Given the description of an element on the screen output the (x, y) to click on. 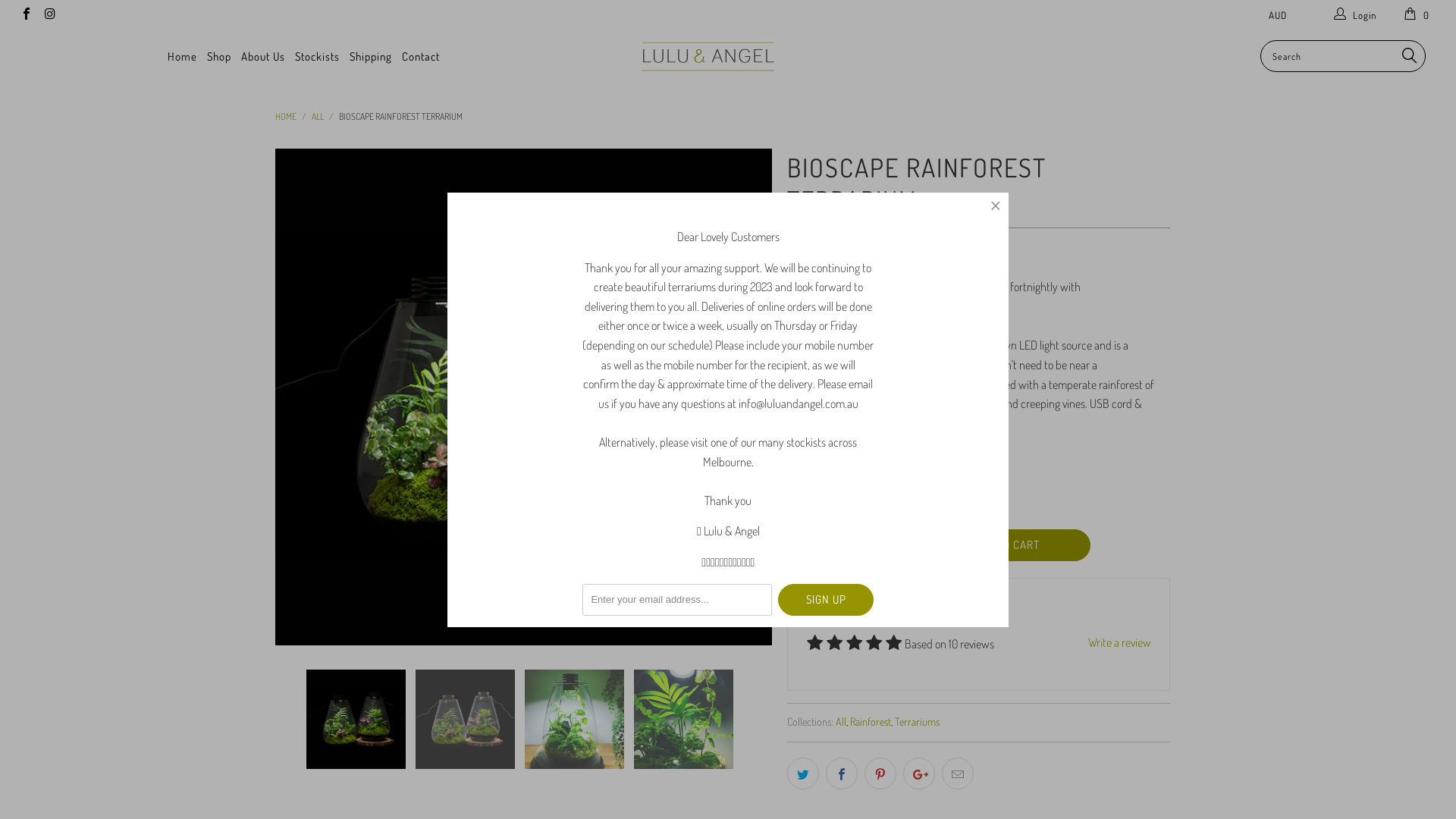
Share this on Google+ Element type: hover (918, 773)
0 Element type: text (1417, 15)
About Us Element type: text (263, 56)
Lulu & Angel Element type: hover (729, 55)
Share this on Twitter Element type: hover (803, 773)
Terrariums Element type: text (916, 721)
Shop Element type: text (219, 56)
Shipping Element type: text (370, 56)
Contact Element type: text (420, 56)
Share this on Pinterest Element type: hover (880, 773)
Lulu & Angel on Facebook Element type: hover (25, 15)
Rainforest Element type: text (869, 721)
Home Element type: text (182, 56)
Login Element type: text (1355, 15)
ADD TO CART Element type: text (1006, 545)
Email this to a friend Element type: hover (957, 773)
Stockists Element type: text (316, 56)
Share this on Facebook Element type: hover (840, 773)
Sign Up Element type: text (825, 599)
ALL Element type: text (316, 116)
HOME Element type: text (284, 116)
Lulu & Angel on Instagram Element type: hover (49, 15)
More info Element type: text (842, 307)
Write a review Element type: text (1118, 642)
All Element type: text (840, 721)
